Given the description of an element on the screen output the (x, y) to click on. 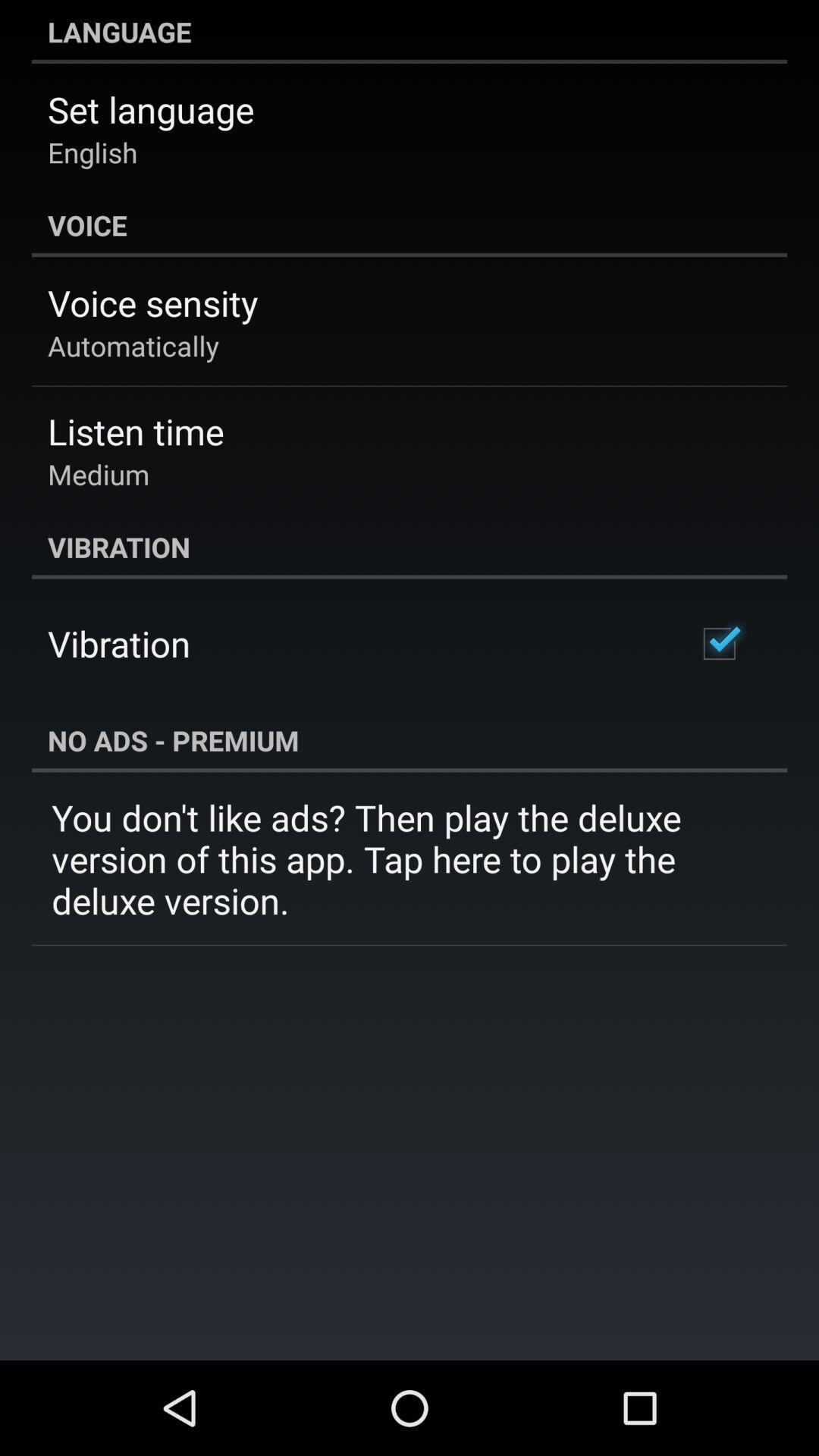
turn off the app below the voice sensity item (132, 345)
